Given the description of an element on the screen output the (x, y) to click on. 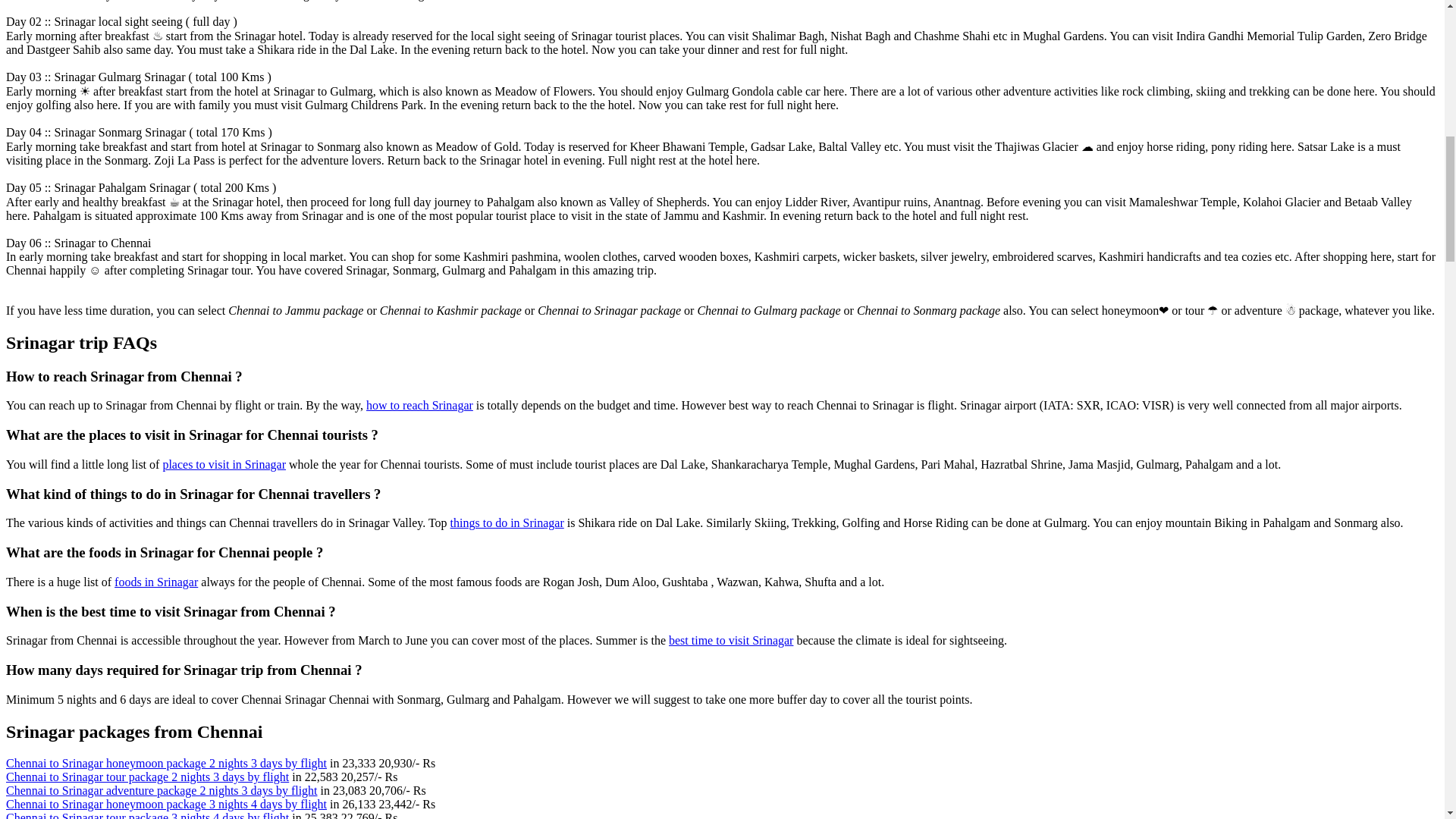
foods in Srinagar (156, 581)
Chennai to Srinagar tour package 3 nights 4 days by flight (146, 815)
places to visit in Srinagar (223, 463)
Chennai to Srinagar tour package 2 nights 3 days by flight (146, 776)
best time to visit Srinagar (730, 640)
how to reach Srinagar (419, 404)
things to do in Srinagar (506, 522)
